Given the description of an element on the screen output the (x, y) to click on. 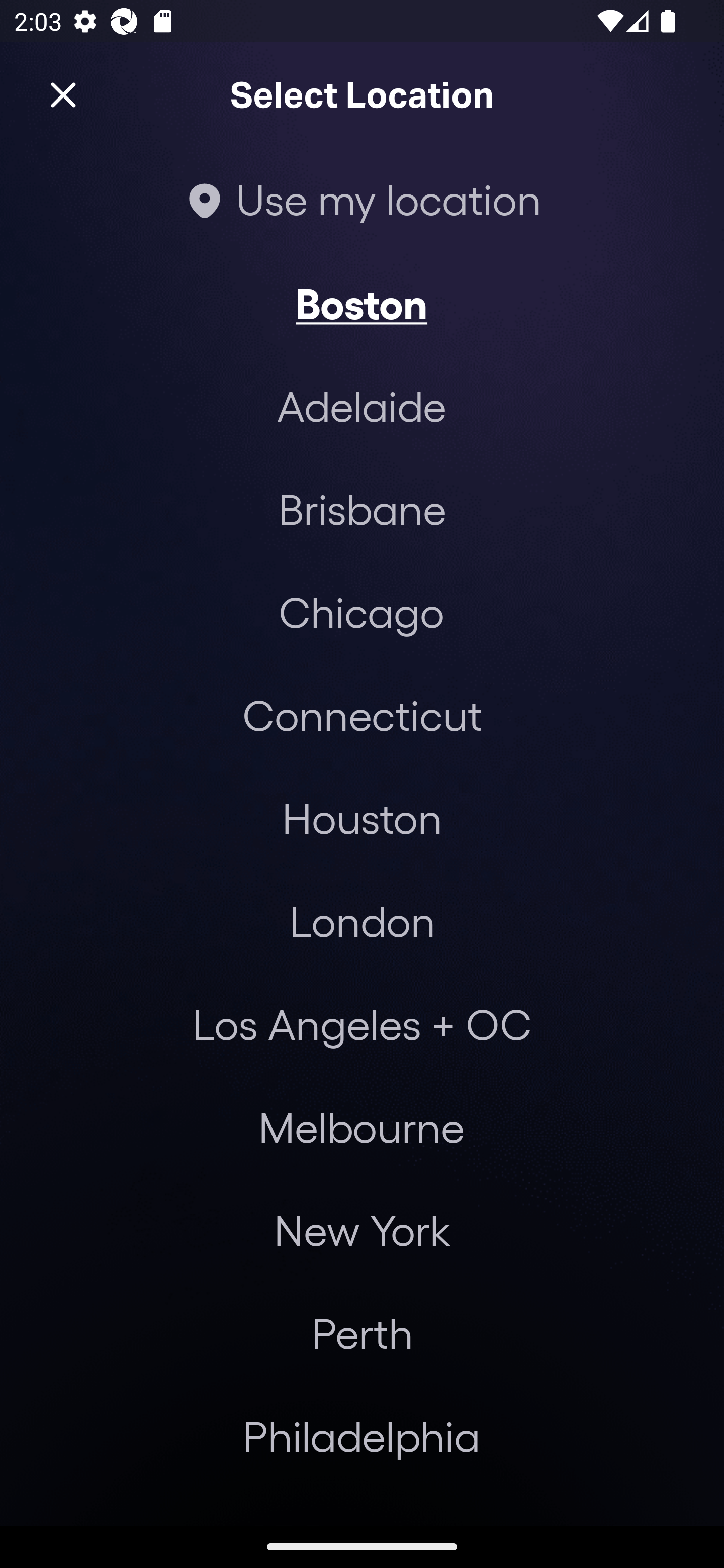
Close (62, 95)
   Use my location (362, 198)
Boston (361, 302)
Adelaide (361, 405)
Brisbane (361, 508)
Chicago (361, 611)
Connecticut (361, 714)
Houston (361, 817)
London (361, 920)
Los Angeles + OC (361, 1023)
Melbourne (361, 1127)
New York (361, 1230)
Perth (361, 1332)
Philadelphia (361, 1436)
